Given the description of an element on the screen output the (x, y) to click on. 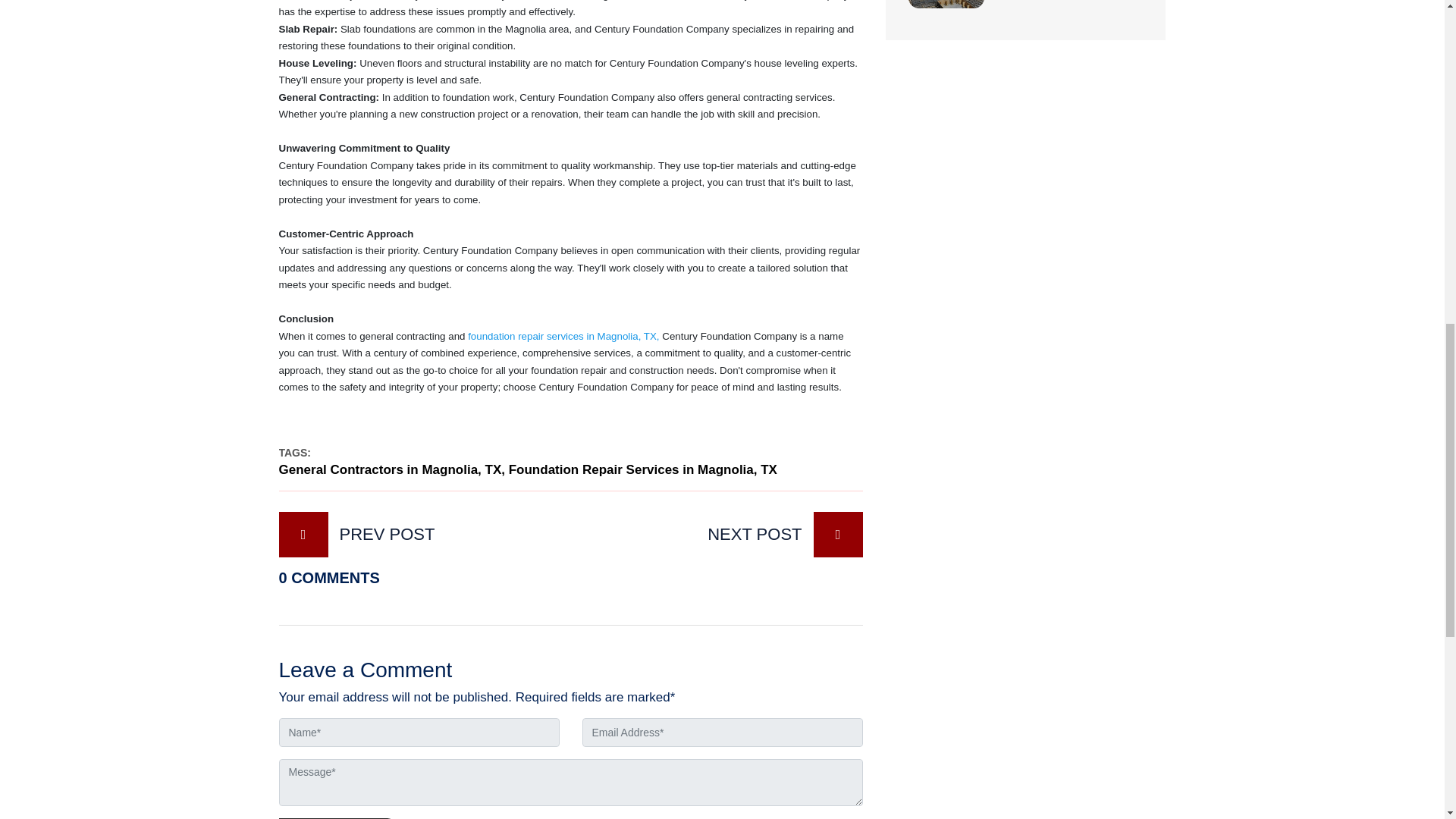
PREV POST (413, 534)
NEXT POST (726, 534)
foundation repair services in Magnolia, TX, (563, 336)
